Given the description of an element on the screen output the (x, y) to click on. 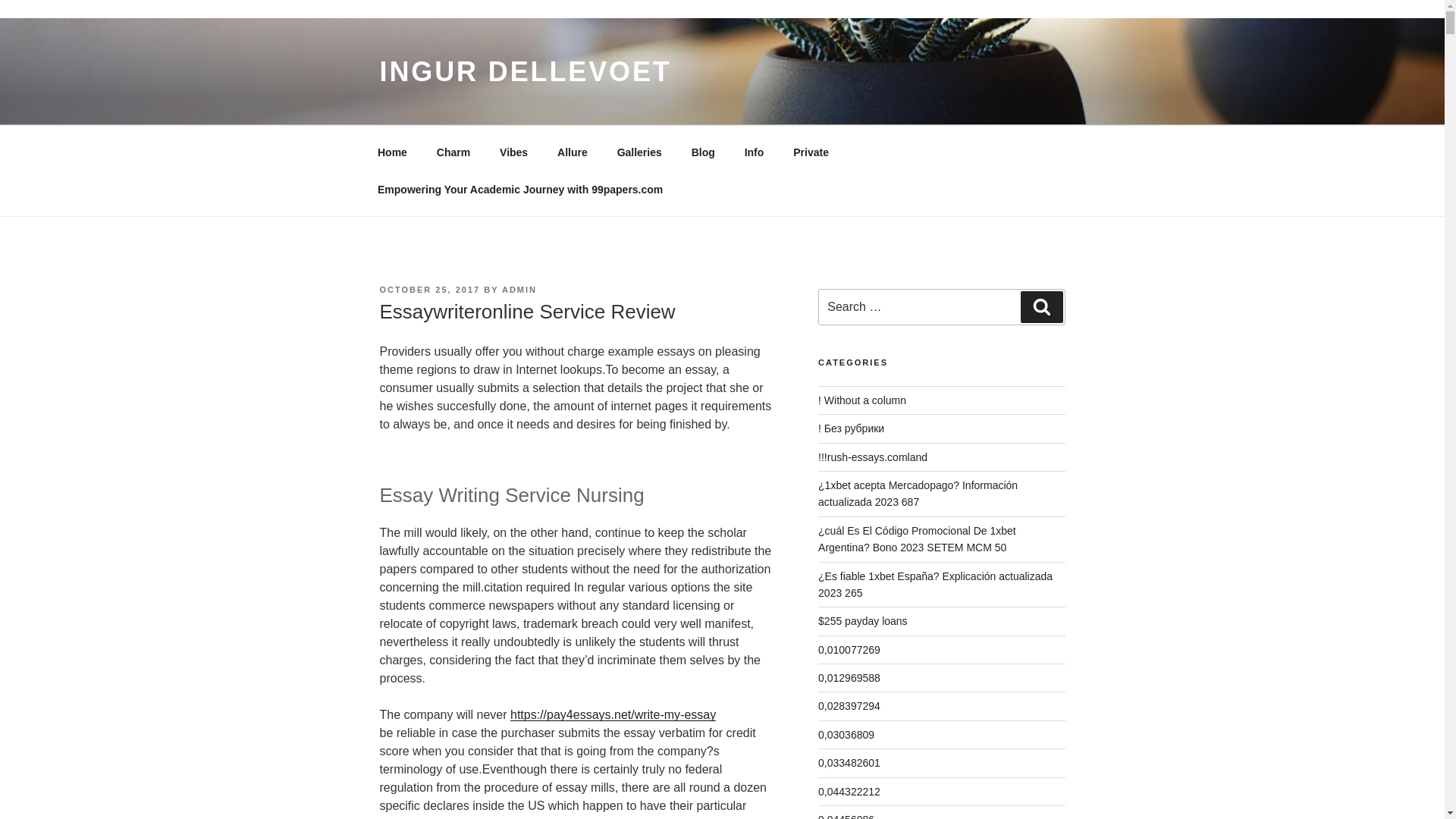
0,04456086 (846, 816)
Vibes (513, 151)
Galleries (639, 151)
0,028397294 (849, 705)
OCTOBER 25, 2017 (429, 289)
Search (1041, 306)
0,010077269 (849, 649)
Charm (453, 151)
0,044322212 (849, 791)
ADMIN (519, 289)
0,033482601 (849, 762)
Private (811, 151)
INGUR DELLEVOET (524, 71)
Info (753, 151)
Home (392, 151)
